Given the description of an element on the screen output the (x, y) to click on. 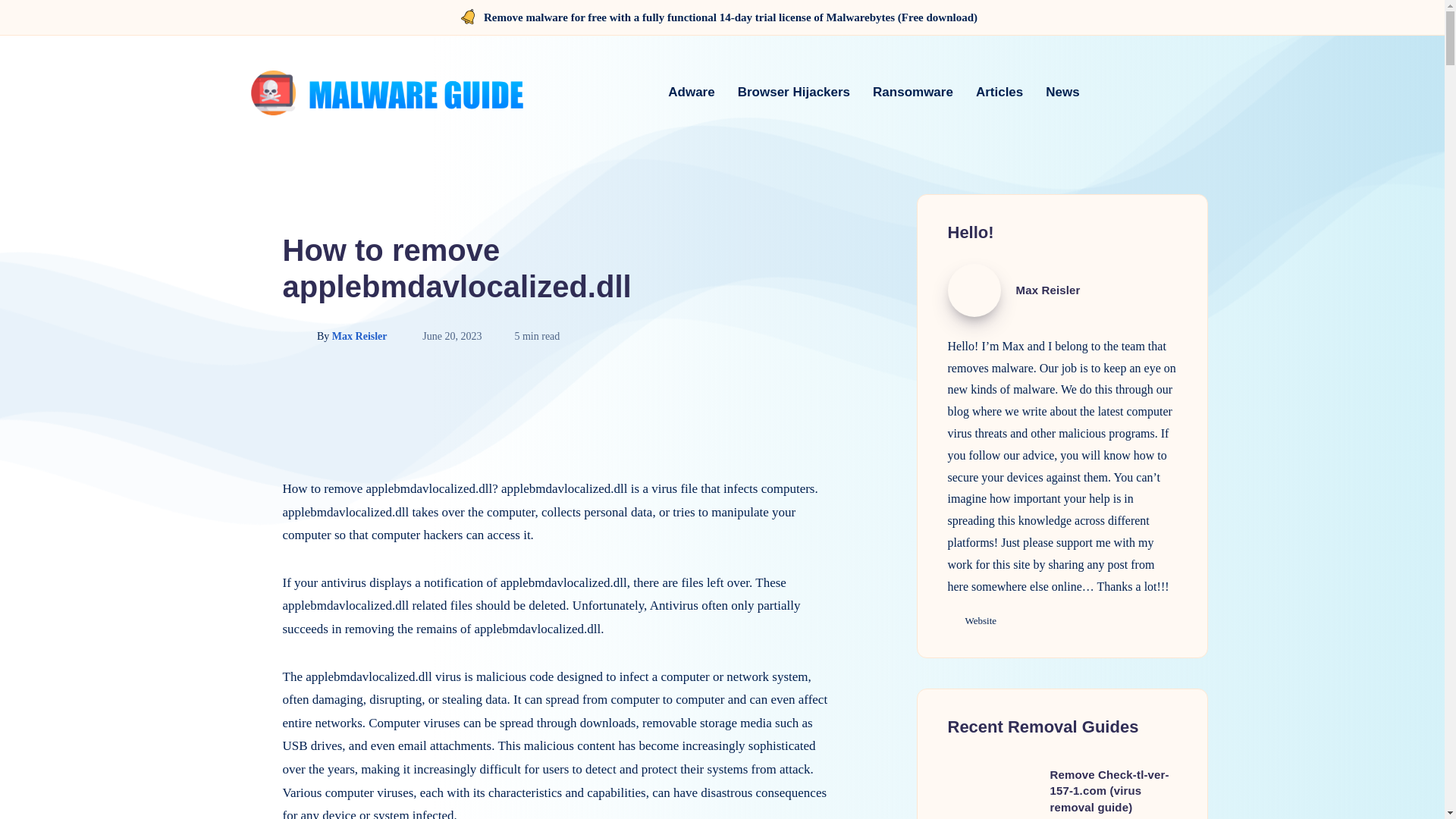
Share on Facebook (244, 405)
Articles (999, 91)
Max Reisler (1048, 289)
Adware (691, 91)
News (1061, 91)
Advertisement (557, 429)
Max Reisler (974, 289)
By Max Reisler (335, 336)
Ransomware (912, 91)
Share on Linkedin (244, 473)
Share on Twitter (244, 440)
Browser Hijackers (794, 91)
Share on Telegram (244, 508)
Share on Whatsapp (244, 576)
Share on Email (244, 542)
